Given the description of an element on the screen output the (x, y) to click on. 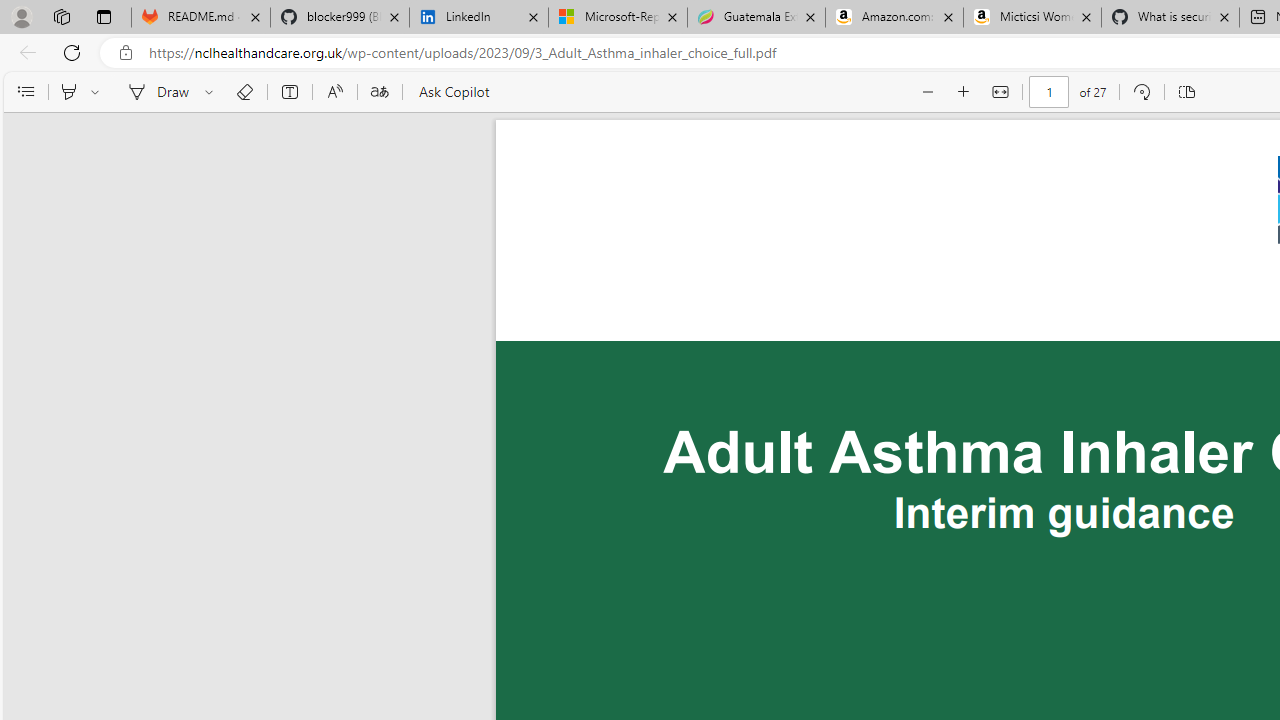
Page view (1185, 92)
